Given the description of an element on the screen output the (x, y) to click on. 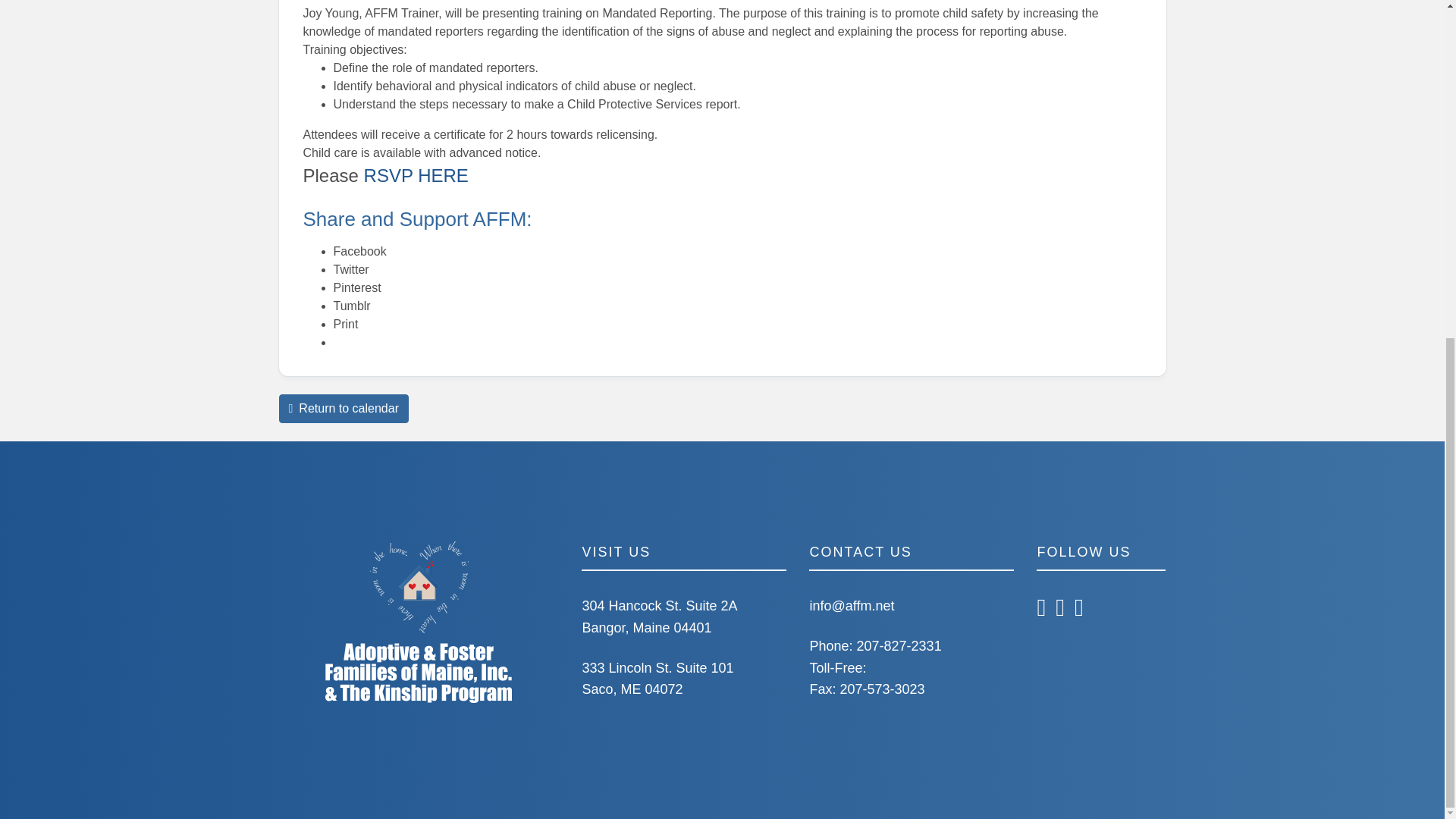
Click to share on Facebook (360, 250)
Click to share on Tumblr (352, 305)
Click to print (345, 323)
Click to share on Pinterest (357, 287)
Click to share on Twitter (351, 269)
